Given the description of an element on the screen output the (x, y) to click on. 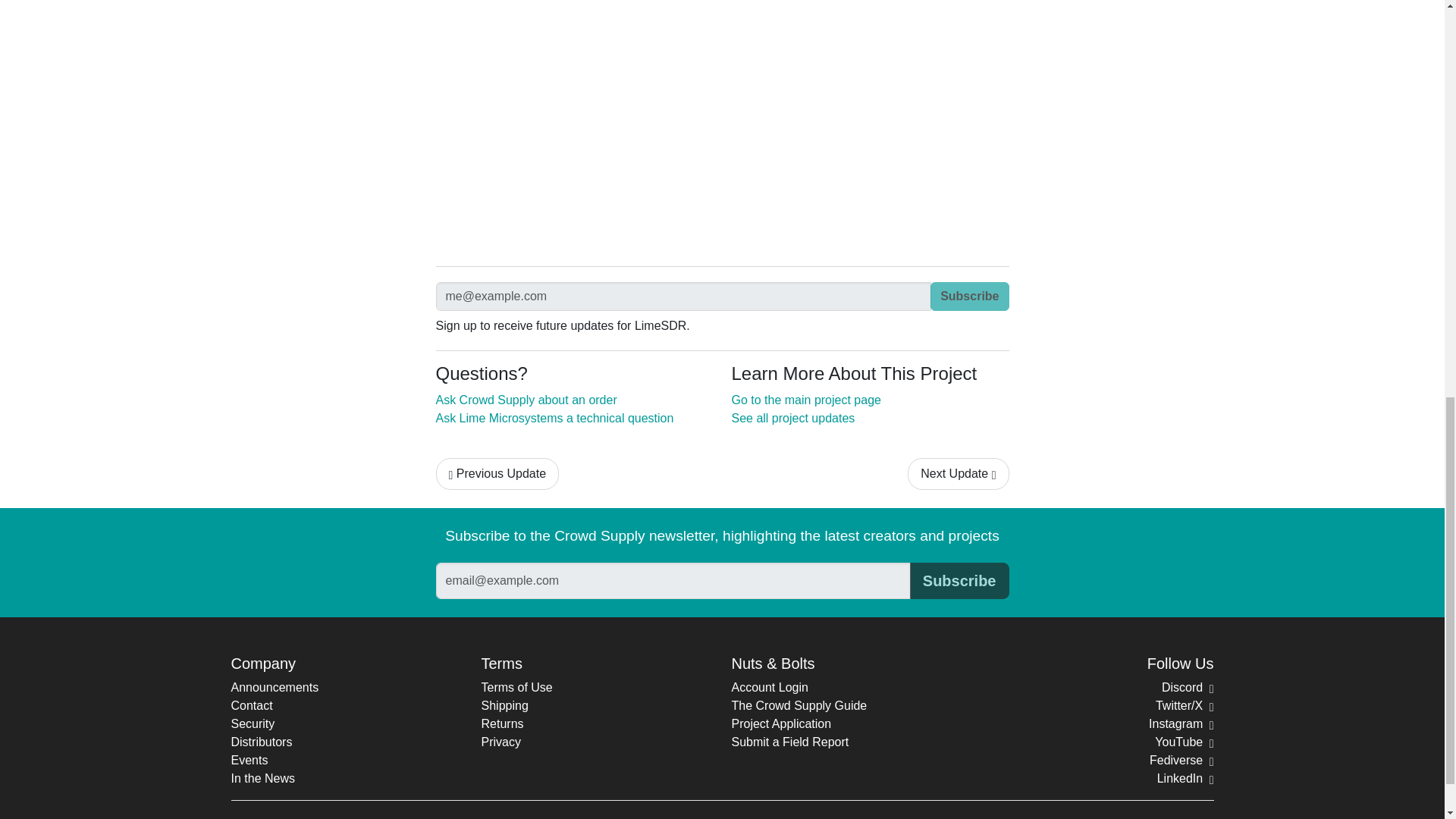
The Crowd Supply Guide (798, 705)
Events (248, 759)
Terms of Use (515, 686)
LinkedIn (1185, 778)
Shipping (503, 705)
Previous Update (497, 473)
Announcements (274, 686)
Submit a Field Report (789, 741)
Returns (501, 723)
YouTube (1183, 741)
